Given the description of an element on the screen output the (x, y) to click on. 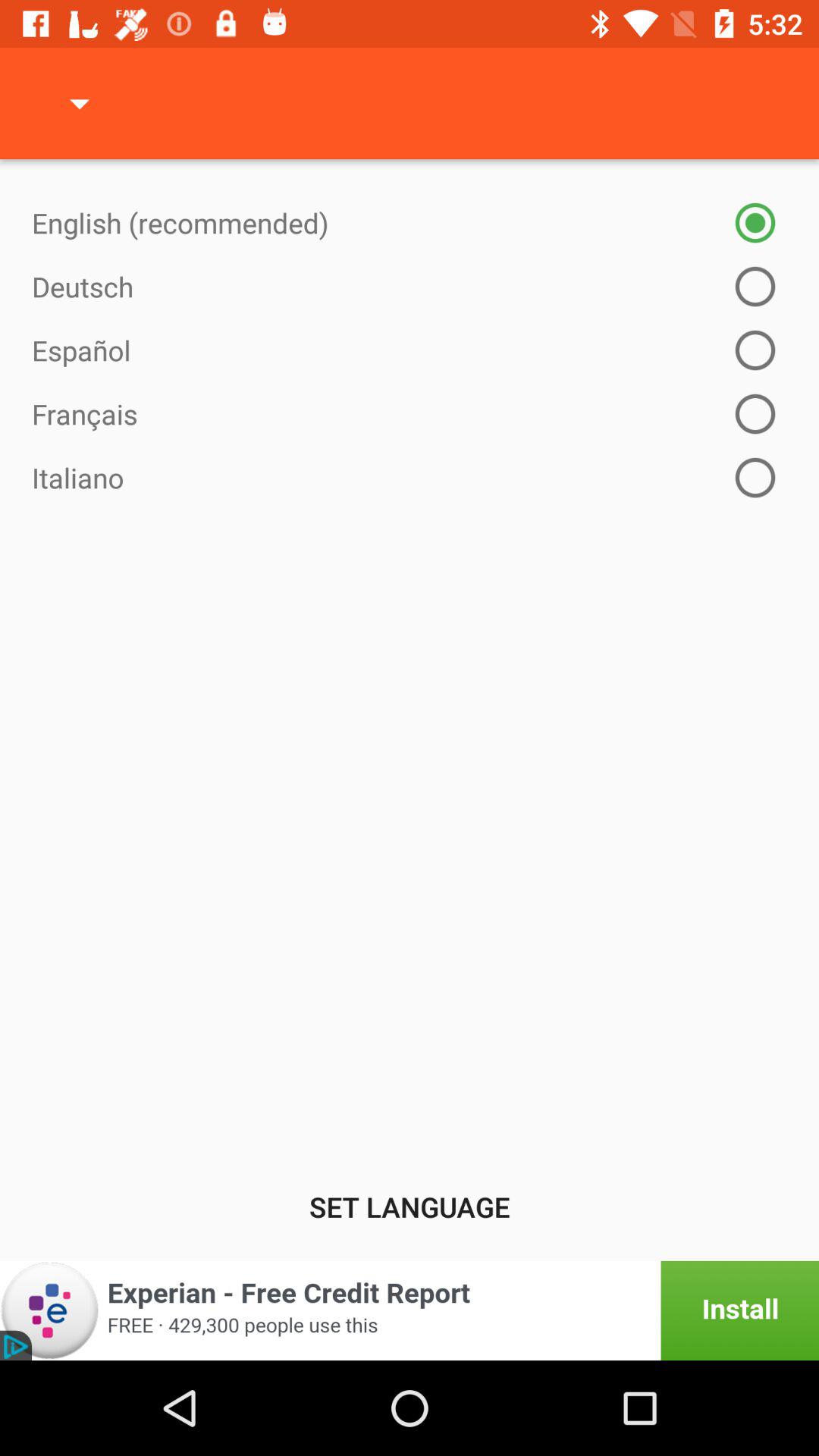
select this option (409, 1310)
